Given the description of an element on the screen output the (x, y) to click on. 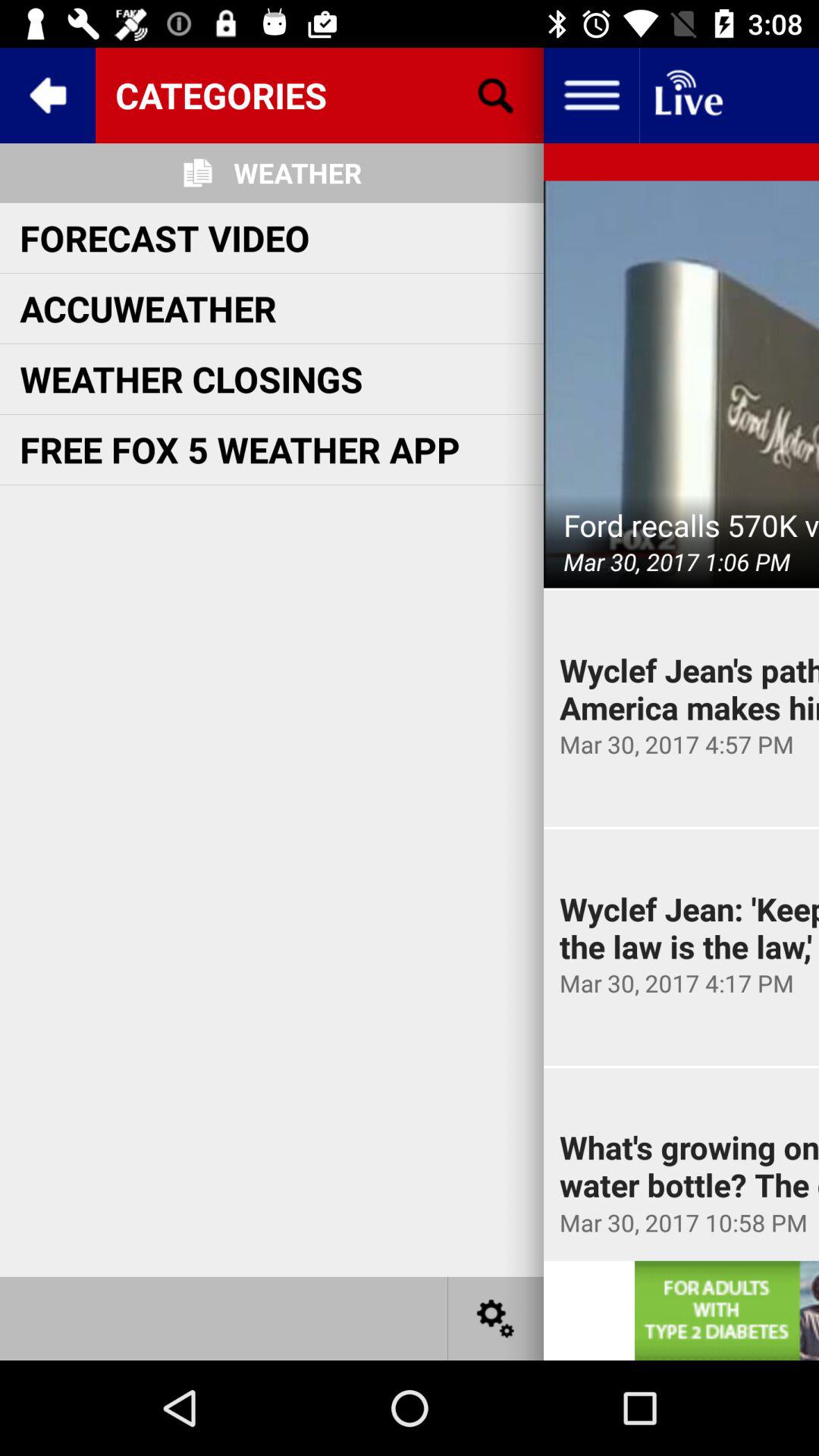
click for list (591, 95)
